Given the description of an element on the screen output the (x, y) to click on. 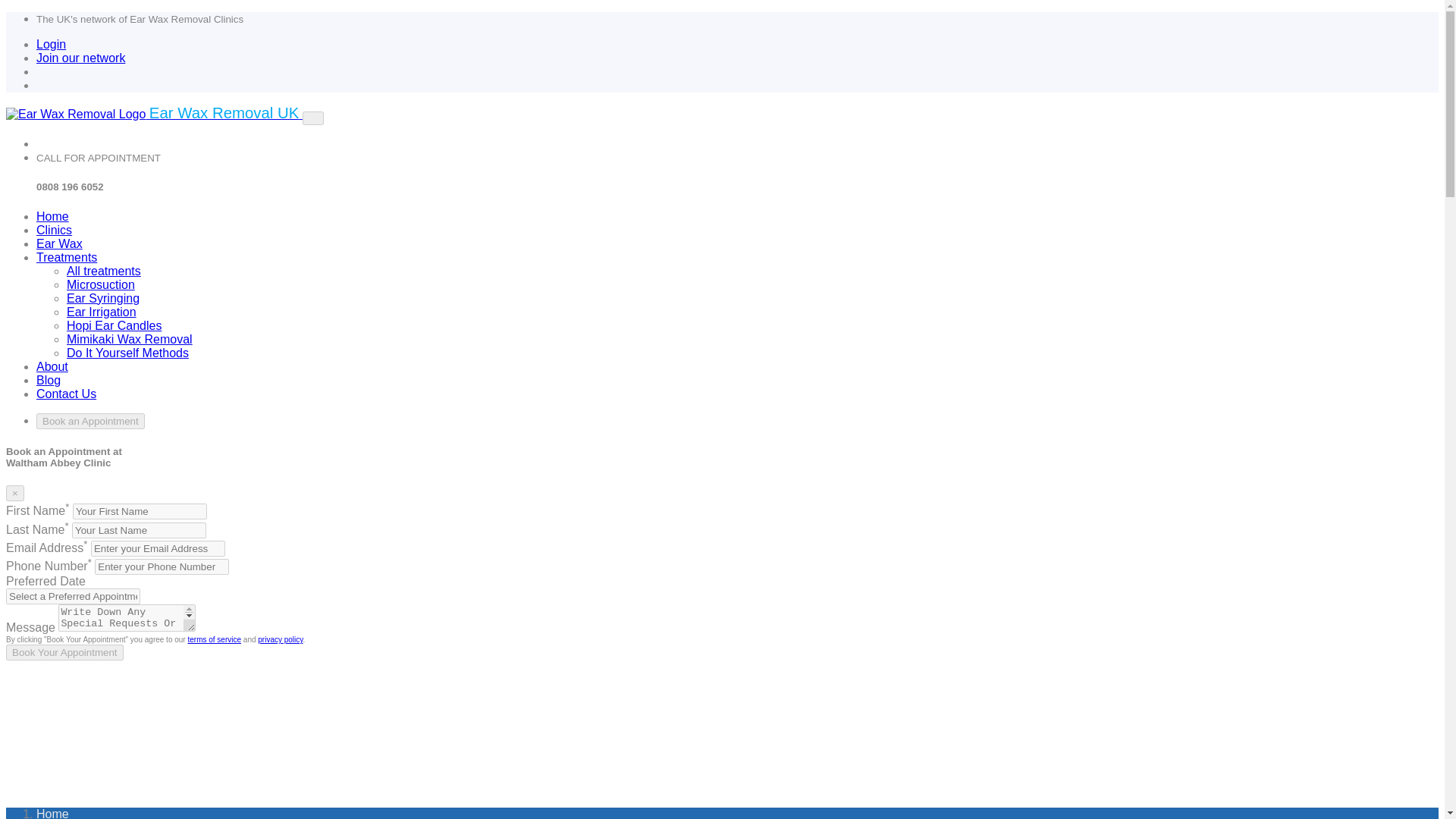
Blog (48, 379)
Ear Syringing (102, 297)
Do It Yourself Methods (127, 352)
Home (52, 215)
About Us (52, 366)
Clinics (53, 229)
Contact Us (66, 393)
Microsuction (100, 284)
Book Your Appointment (64, 652)
privacy policy (279, 639)
